Given the description of an element on the screen output the (x, y) to click on. 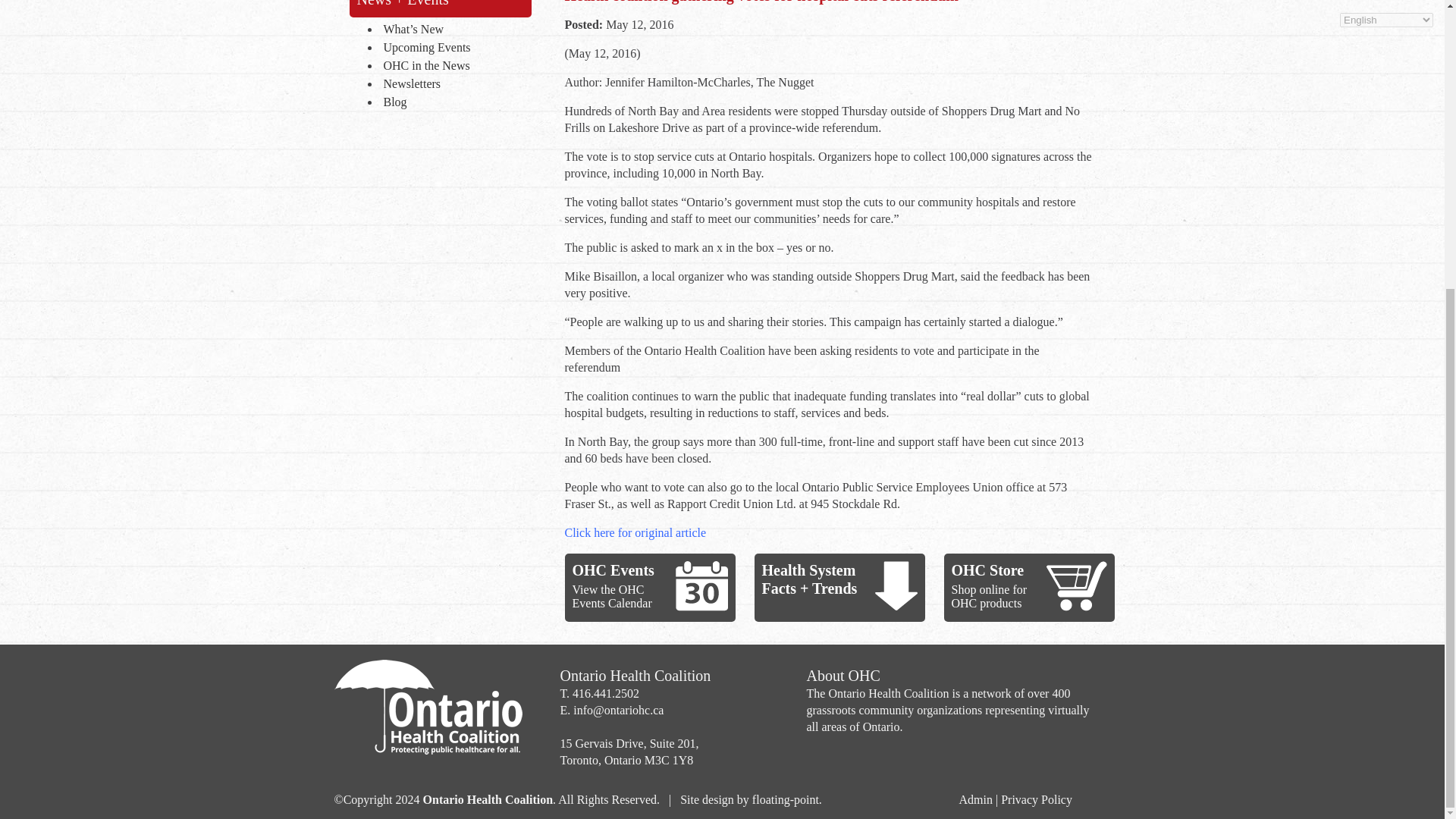
Admin (974, 799)
Shop online for OHC products (988, 596)
OHC Events (612, 569)
Privacy Policy (1036, 799)
Ontario Health Coalition Store (1076, 585)
OHC in the News (452, 66)
Ontario Health Coalition Events (700, 585)
Newsletters (452, 85)
View the OHC Events Calendar (611, 596)
OHC Store (986, 569)
Click here for original article (635, 532)
Blog (452, 103)
Upcoming Events (452, 48)
floating-point (785, 799)
